Given the description of an element on the screen output the (x, y) to click on. 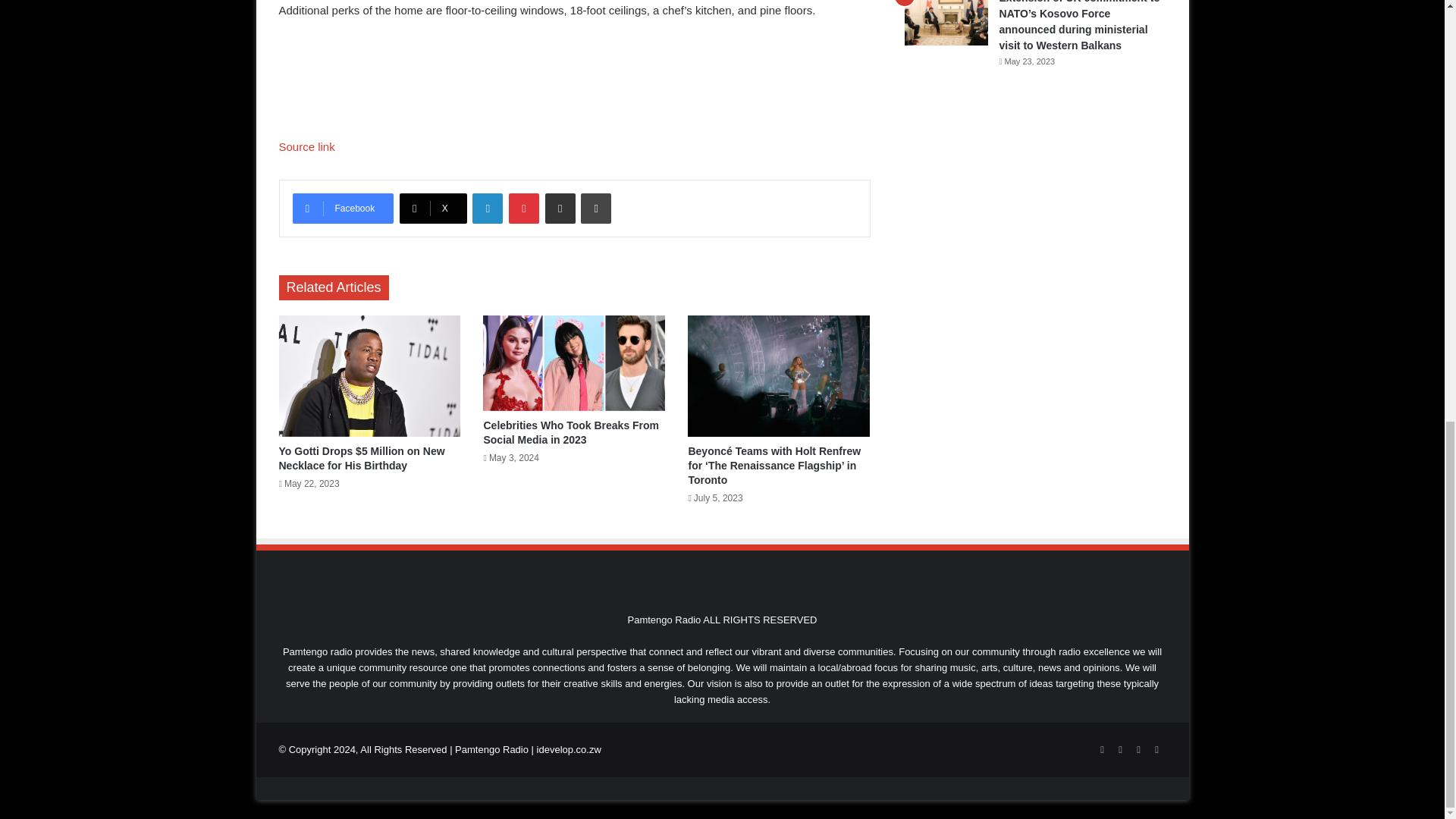
Facebook (343, 208)
LinkedIn (486, 208)
Print (595, 208)
X (432, 208)
Share via Email (559, 208)
Pinterest (523, 208)
X (432, 208)
LinkedIn (486, 208)
Share via Email (559, 208)
Celebrities Who Took Breaks From Social Media in 2023 (571, 432)
Facebook (343, 208)
Source link (306, 146)
Pinterest (523, 208)
Print (595, 208)
